Given the description of an element on the screen output the (x, y) to click on. 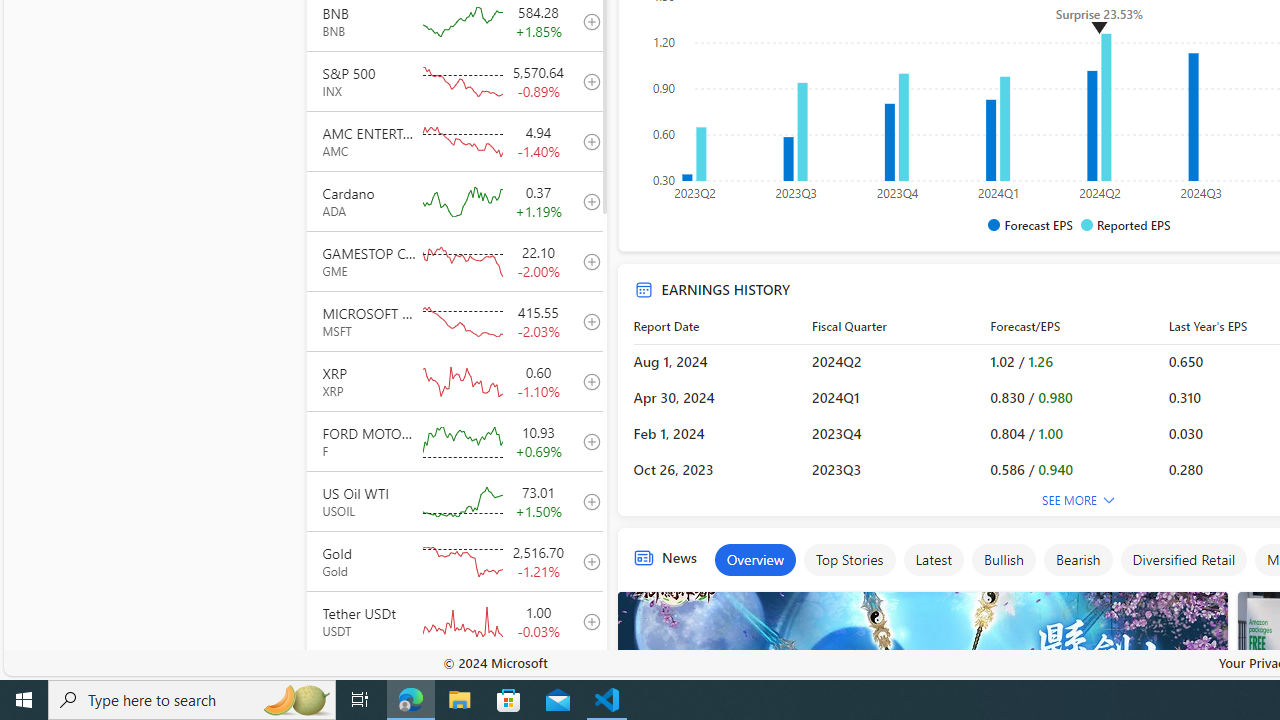
Top Stories (848, 560)
AdChoices (1211, 602)
Diversified Retail (1183, 560)
Latest (932, 560)
Bearish (1078, 560)
